Given the description of an element on the screen output the (x, y) to click on. 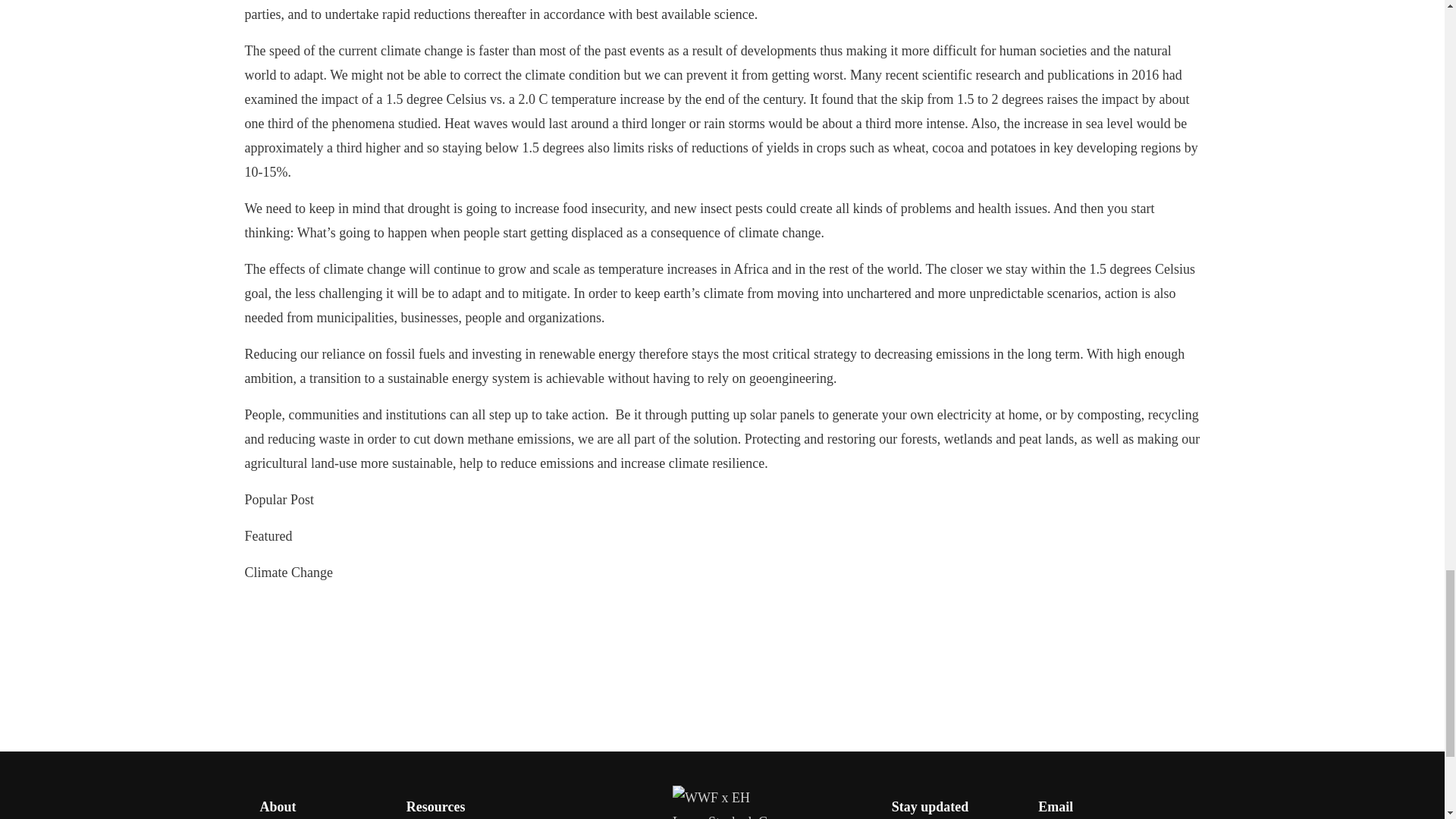
Resources (435, 806)
Email (1055, 806)
About (277, 806)
Stay updated (930, 806)
